Given the description of an element on the screen output the (x, y) to click on. 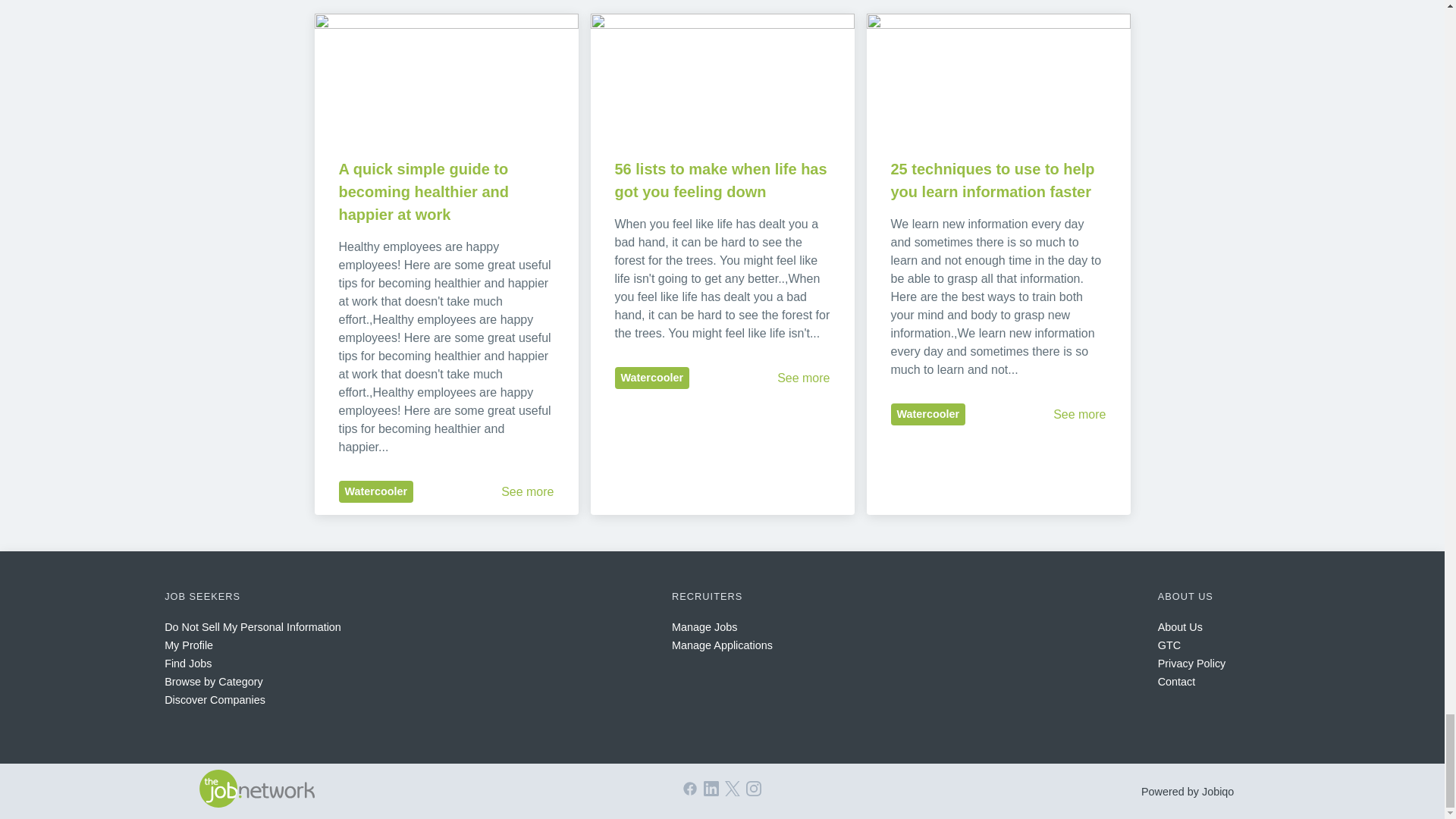
See more (526, 491)
Privacy Policy (1191, 663)
LinkedIn logo (711, 788)
GTC (1168, 645)
See more (1078, 413)
Contact (1176, 681)
About Us (1179, 626)
Instagram logo (753, 788)
Facebook logo (689, 788)
Twitter logo (732, 788)
LinkedIn logo (711, 792)
Facebook logo (689, 792)
Find Jobs (187, 663)
See more (803, 377)
